Given the description of an element on the screen output the (x, y) to click on. 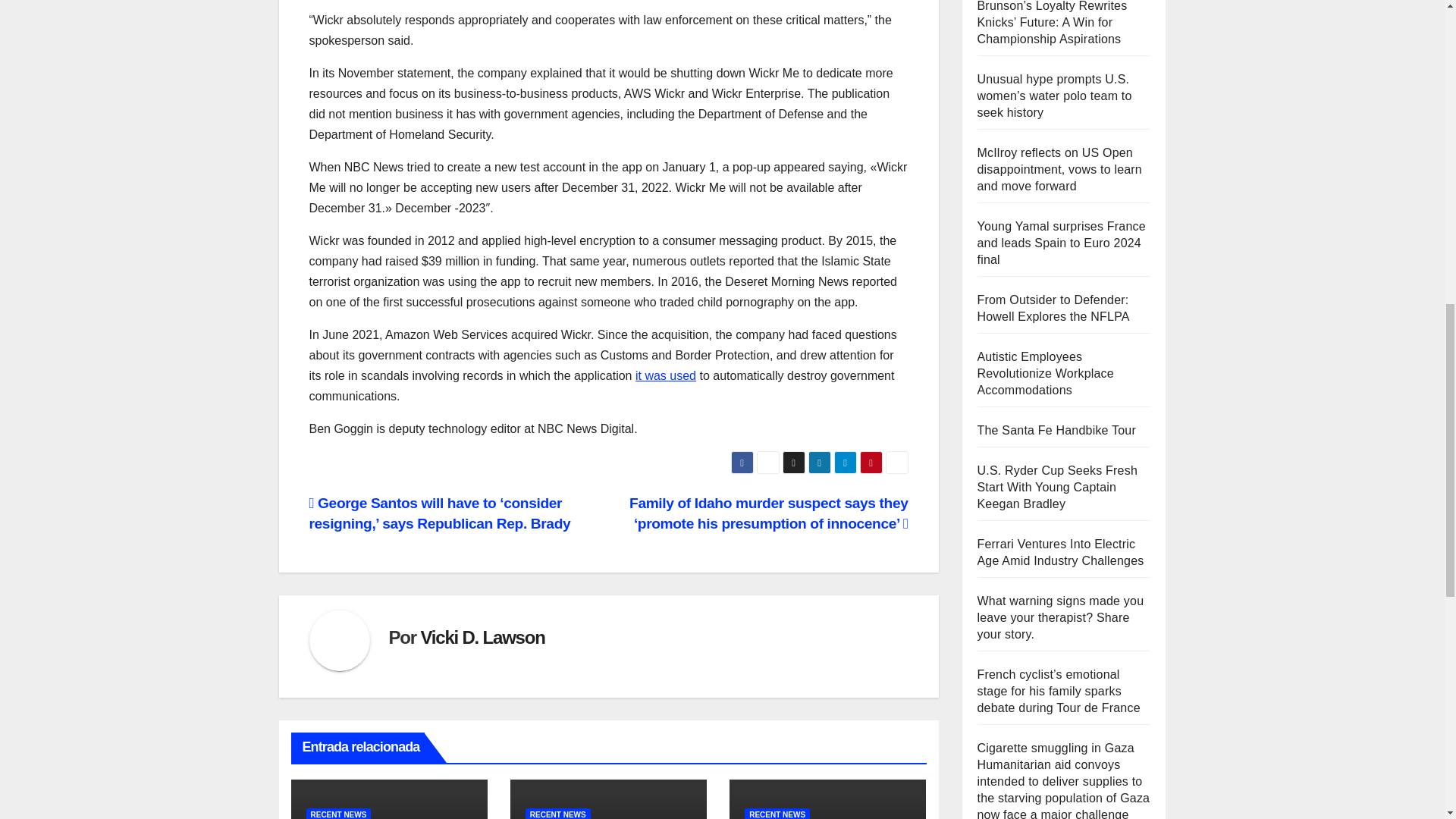
RECENT NEWS (338, 813)
it was used (664, 375)
Vicki D. Lawson (482, 637)
RECENT NEWS (558, 813)
RECENT NEWS (776, 813)
